Given the description of an element on the screen output the (x, y) to click on. 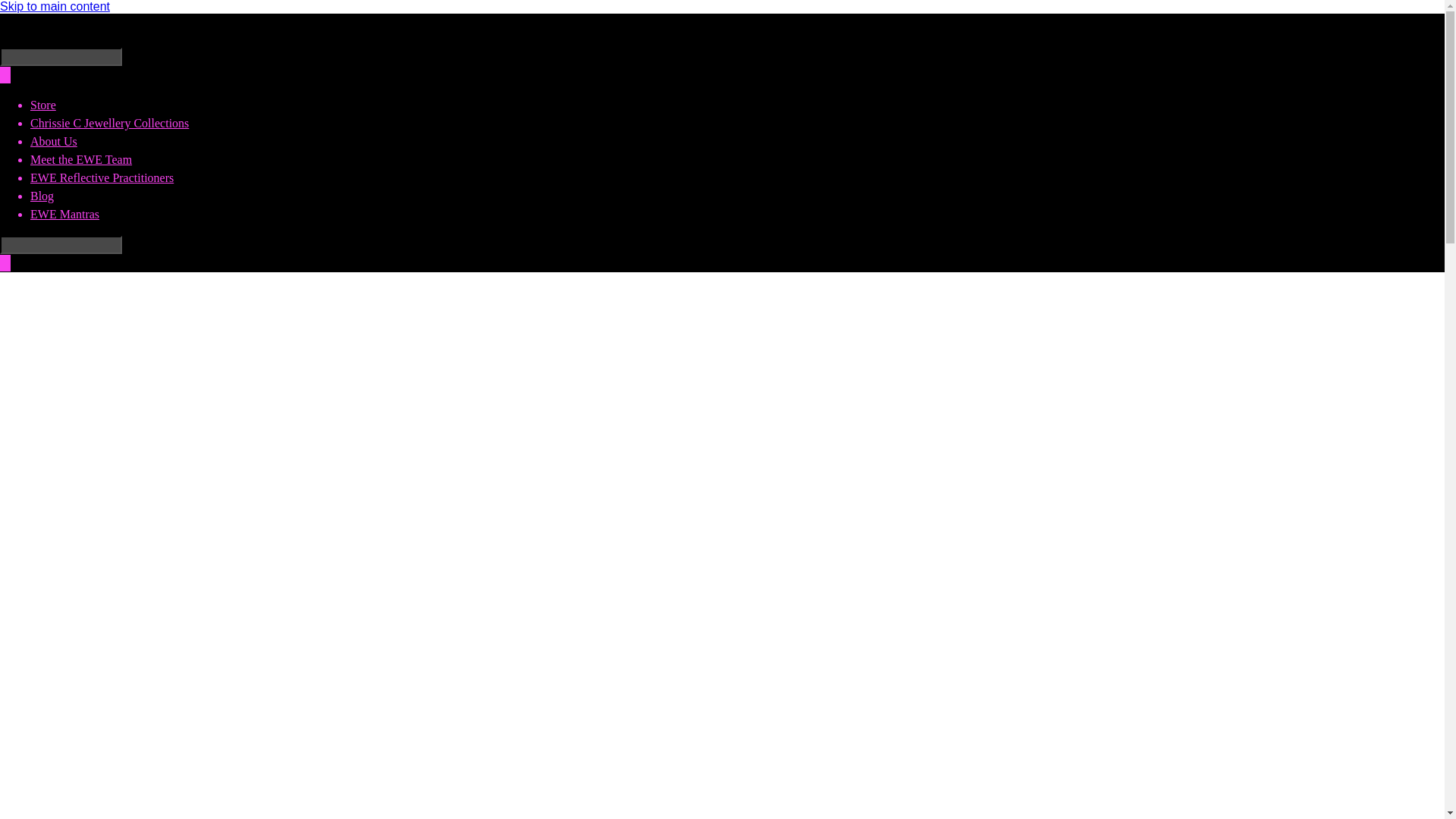
Meet the EWE Team (81, 159)
Blog (41, 195)
EWE Reflective Practitioners (101, 177)
EWE Mantras (64, 214)
Store (43, 104)
Skip to main content (55, 6)
Enter the terms you wish to search for. (61, 56)
About Us (53, 141)
Enter the terms you wish to search for. (61, 244)
Chrissie C Jewellery Collections (109, 123)
